Given the description of an element on the screen output the (x, y) to click on. 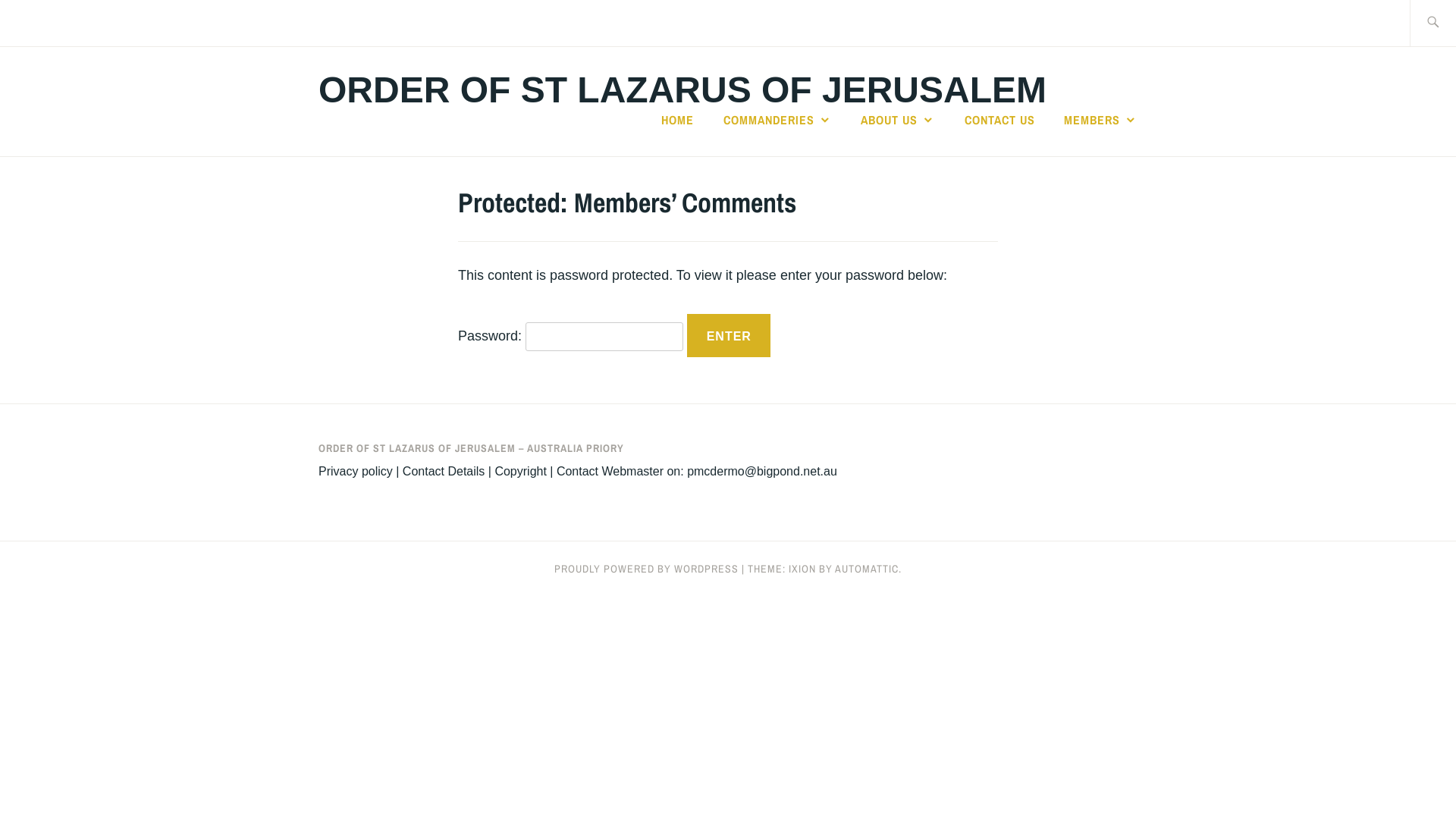
COMMANDERIES Element type: text (777, 119)
PROUDLY POWERED BY WORDPRESS Element type: text (646, 568)
Search Element type: text (47, 21)
CONTACT US Element type: text (999, 119)
AUTOMATTIC Element type: text (866, 568)
ORDER OF ST LAZARUS OF JERUSALEM Element type: text (682, 89)
Enter Element type: text (728, 335)
HOME Element type: text (677, 119)
MEMBERS Element type: text (1100, 119)
ABOUT US Element type: text (897, 119)
